Given the description of an element on the screen output the (x, y) to click on. 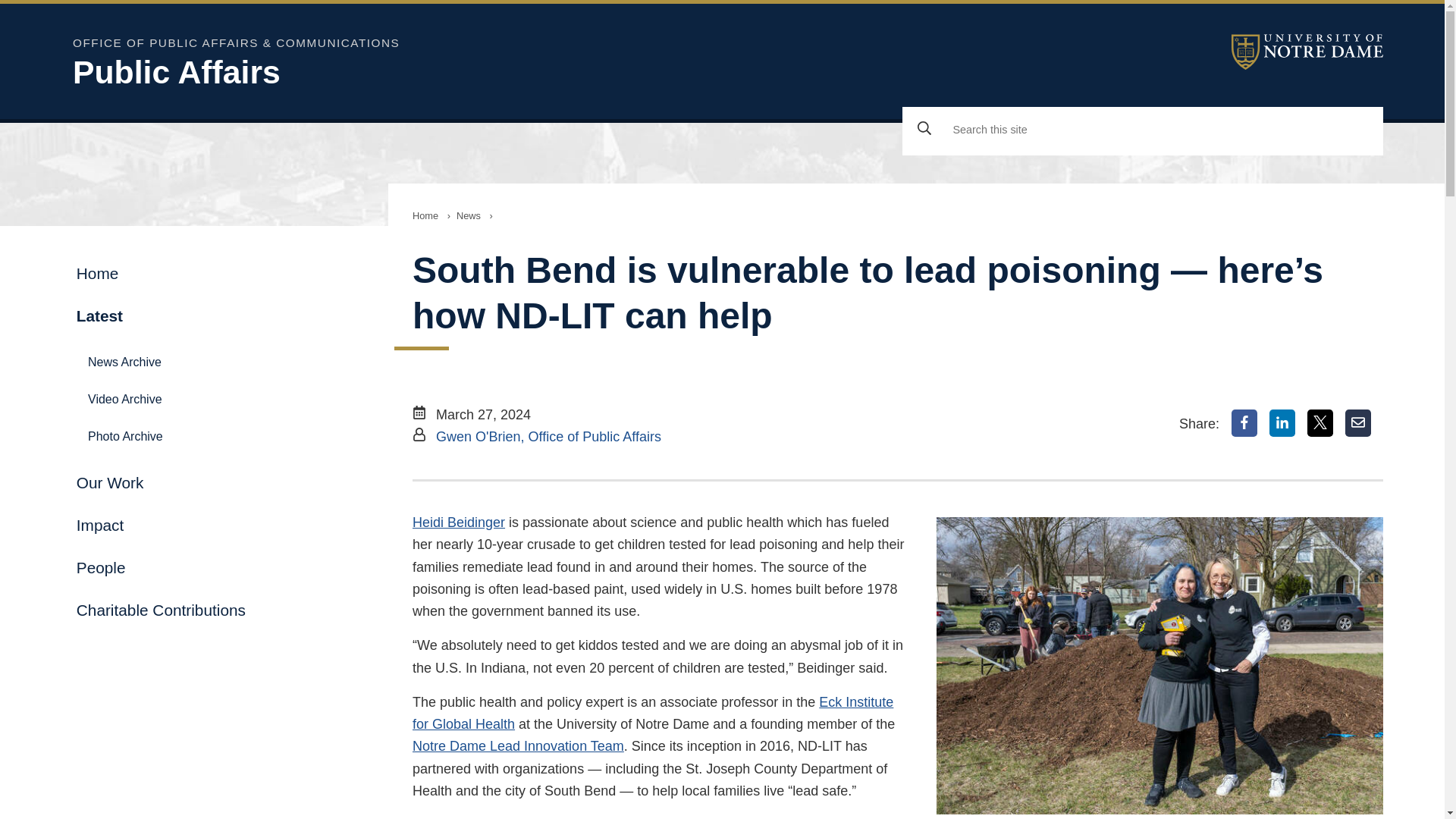
LinkedIn (1282, 422)
Gwen O'Brien, Office of Public Affairs (548, 436)
Home (425, 215)
News (467, 215)
type your search term (1164, 130)
Eck Institute for Global Health (652, 713)
Email (1358, 422)
Facebook (1244, 422)
Heidi Beidinger (458, 522)
University of Notre Dame (1307, 51)
